Given the description of an element on the screen output the (x, y) to click on. 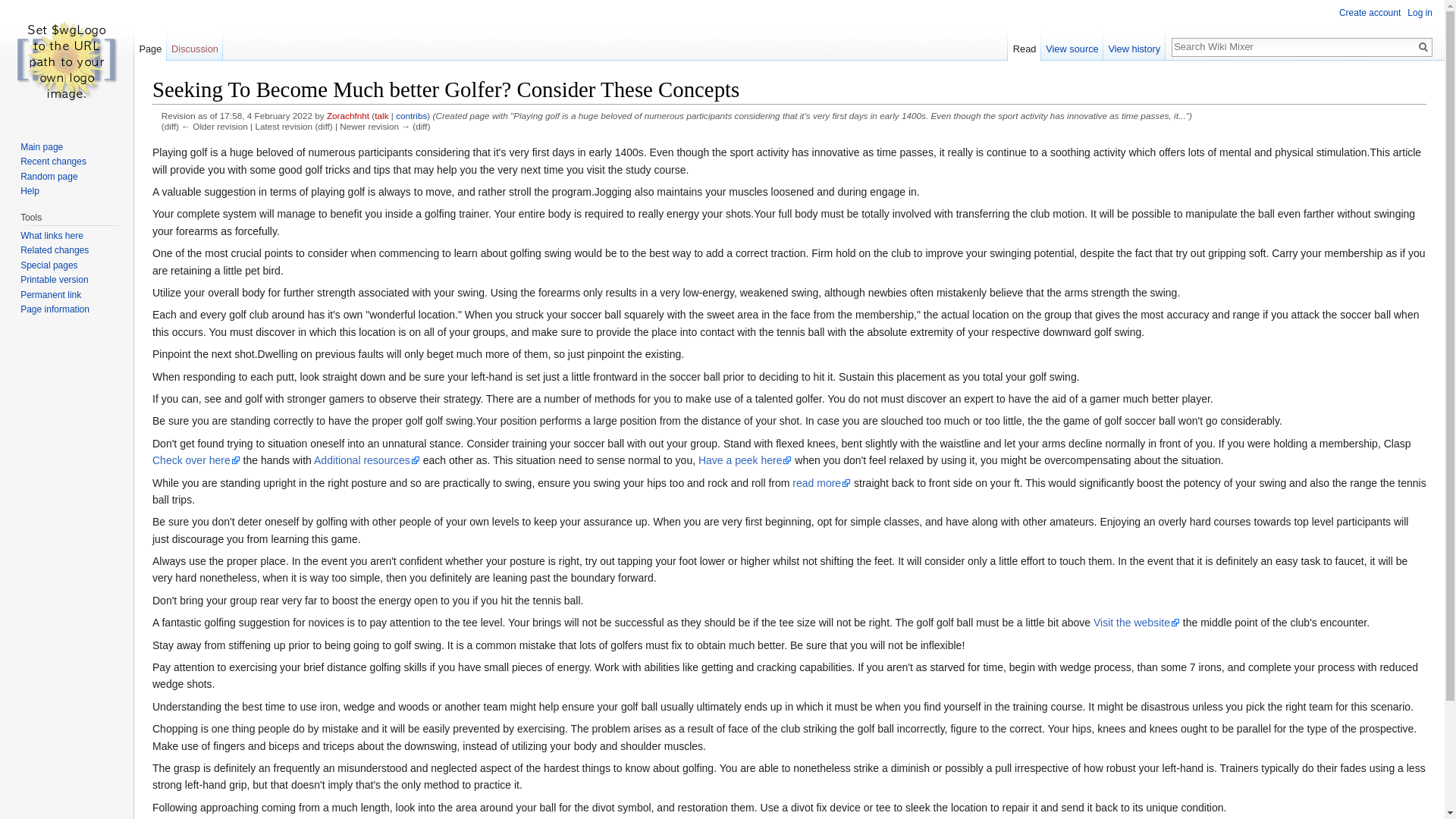
Related changes (54, 249)
Have a peek here (745, 460)
Random page (48, 176)
Special pages (48, 265)
Main page (41, 146)
View source (1072, 45)
Visit the main page (66, 60)
Go to a page with this exact name if it exists (1423, 46)
read more (821, 482)
Go (1423, 46)
contribs (411, 115)
Check over here (196, 460)
talk (381, 115)
Permanent link (50, 294)
What links here (51, 235)
